Given the description of an element on the screen output the (x, y) to click on. 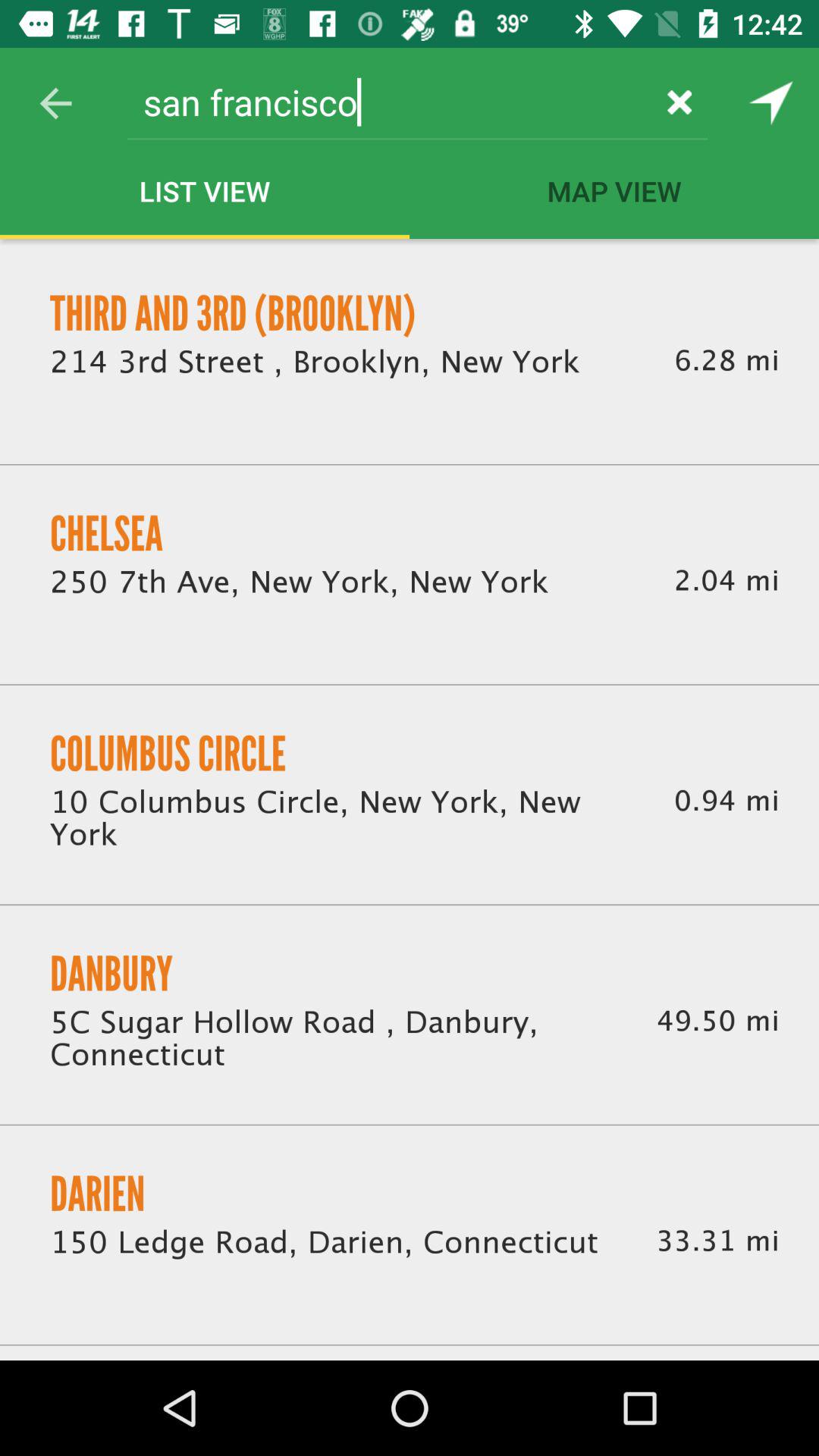
click icon to the right of the 250 7th ave icon (726, 580)
